Given the description of an element on the screen output the (x, y) to click on. 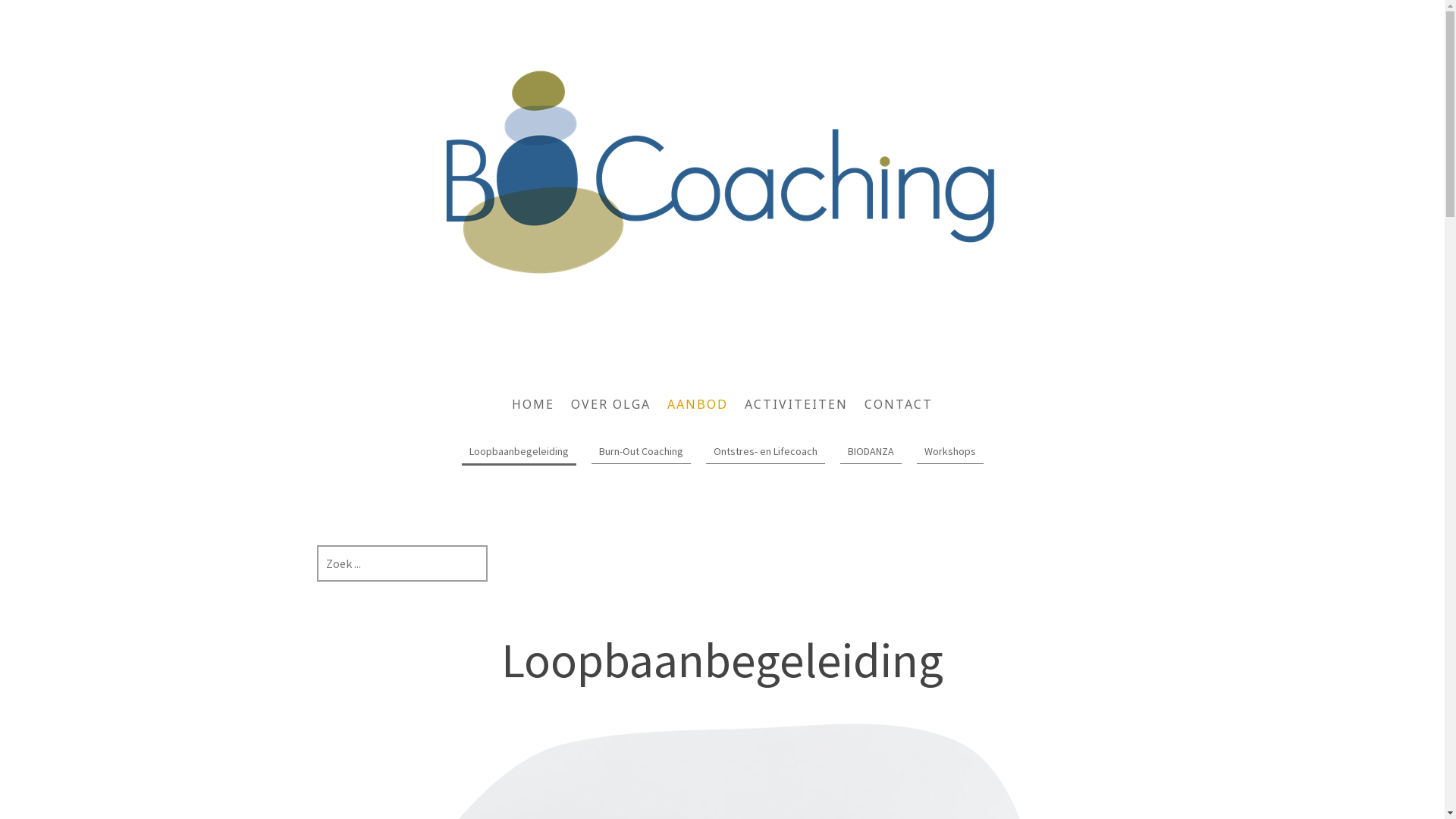
Workshops Element type: text (949, 451)
AANBOD Element type: text (697, 403)
Ontstres- en Lifecoach Element type: text (764, 451)
HOME Element type: text (532, 403)
ACTIVITEITEN Element type: text (796, 403)
CONTACT Element type: text (898, 403)
OVER OLGA Element type: text (610, 403)
BIODANZA Element type: text (870, 451)
Loopbaanbegeleiding Element type: text (518, 452)
Burn-Out Coaching Element type: text (640, 451)
